Given the description of an element on the screen output the (x, y) to click on. 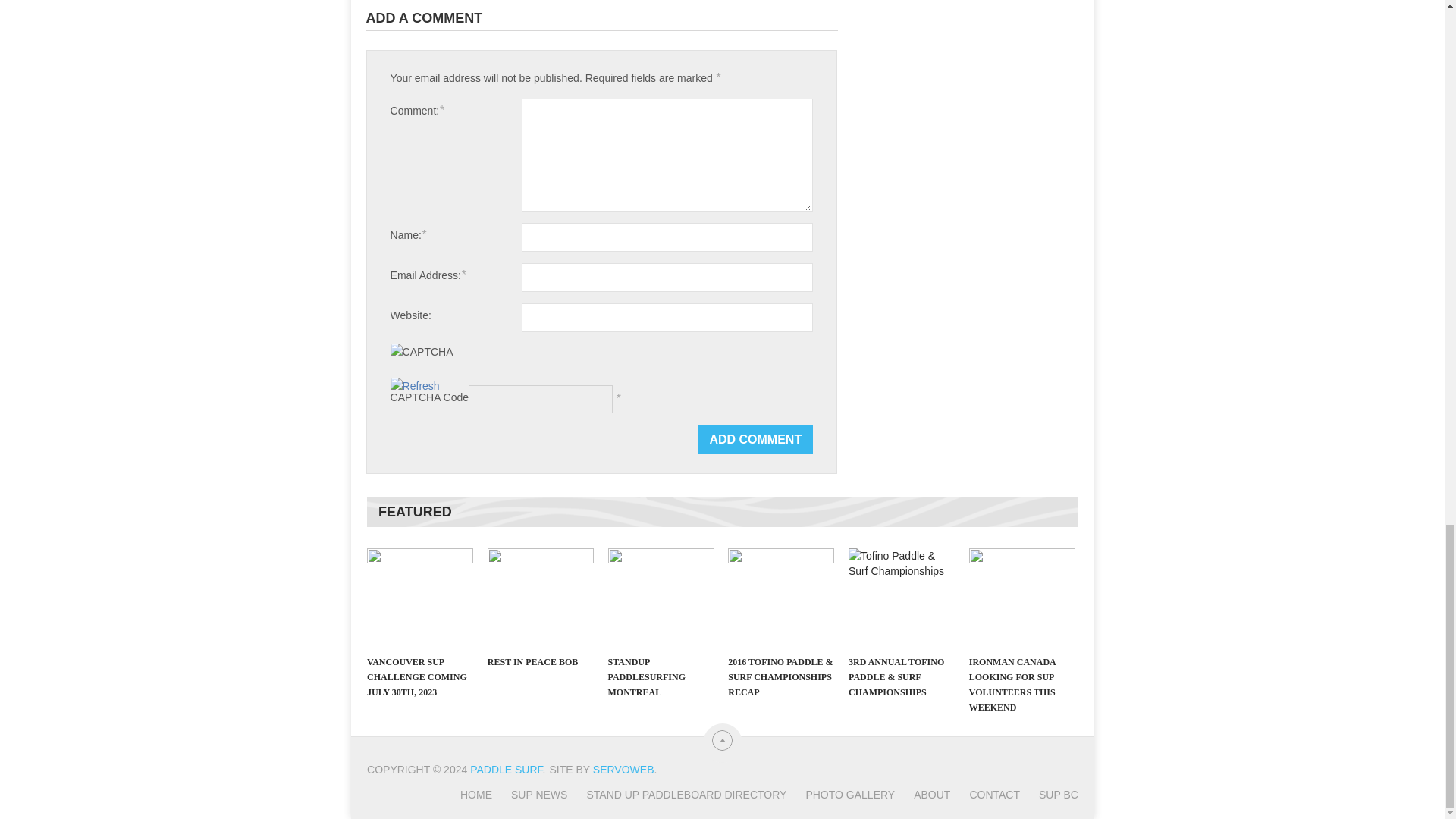
CAPTCHA (442, 360)
Add Comment (754, 439)
Refresh (414, 386)
